Given the description of an element on the screen output the (x, y) to click on. 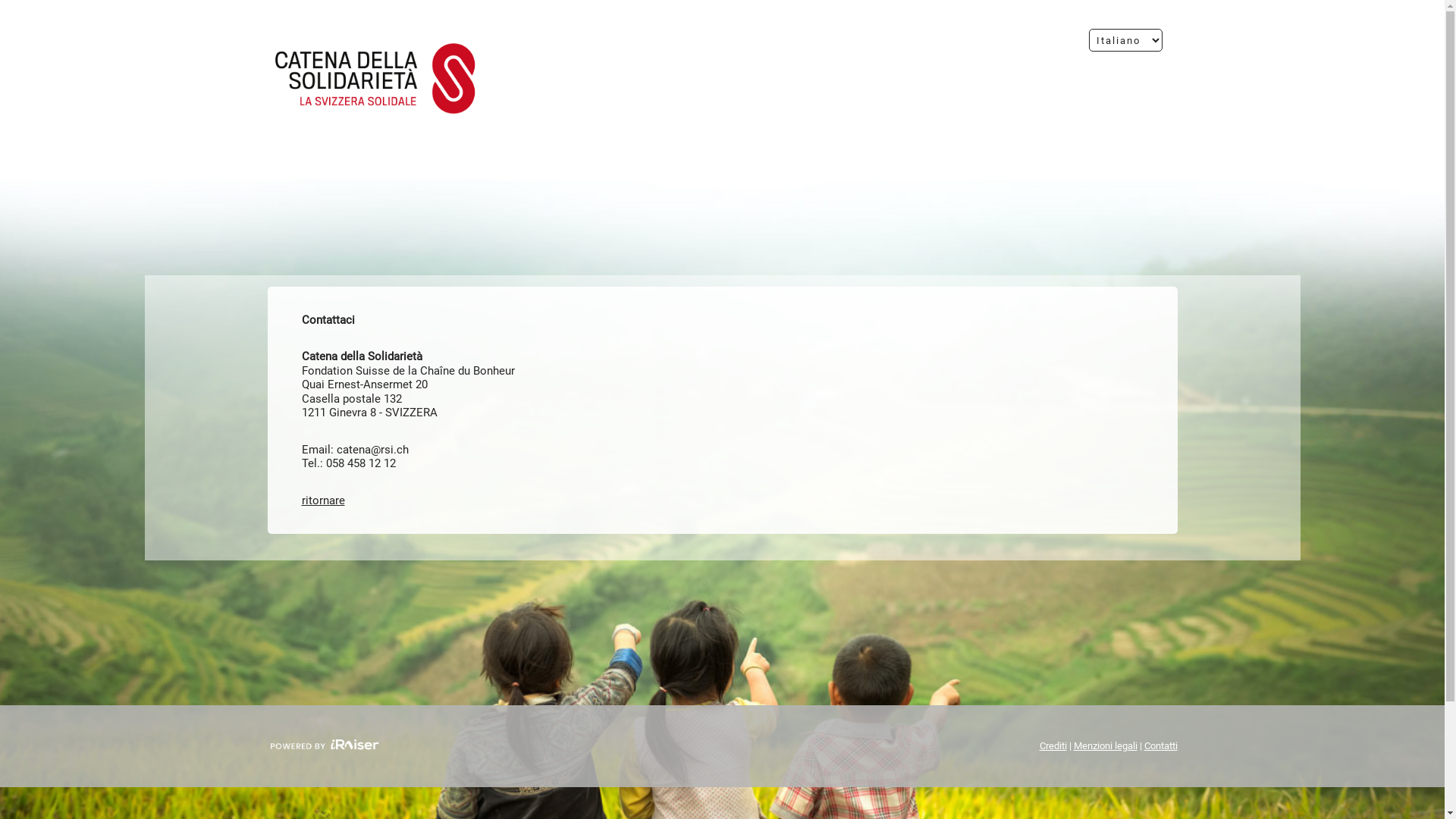
Menzioni legali Element type: text (1105, 745)
Crediti Element type: text (1052, 745)
Contatti Element type: text (1159, 745)
ritornare Element type: text (323, 500)
Powered by iRaiser Element type: hover (323, 745)
